Given the description of an element on the screen output the (x, y) to click on. 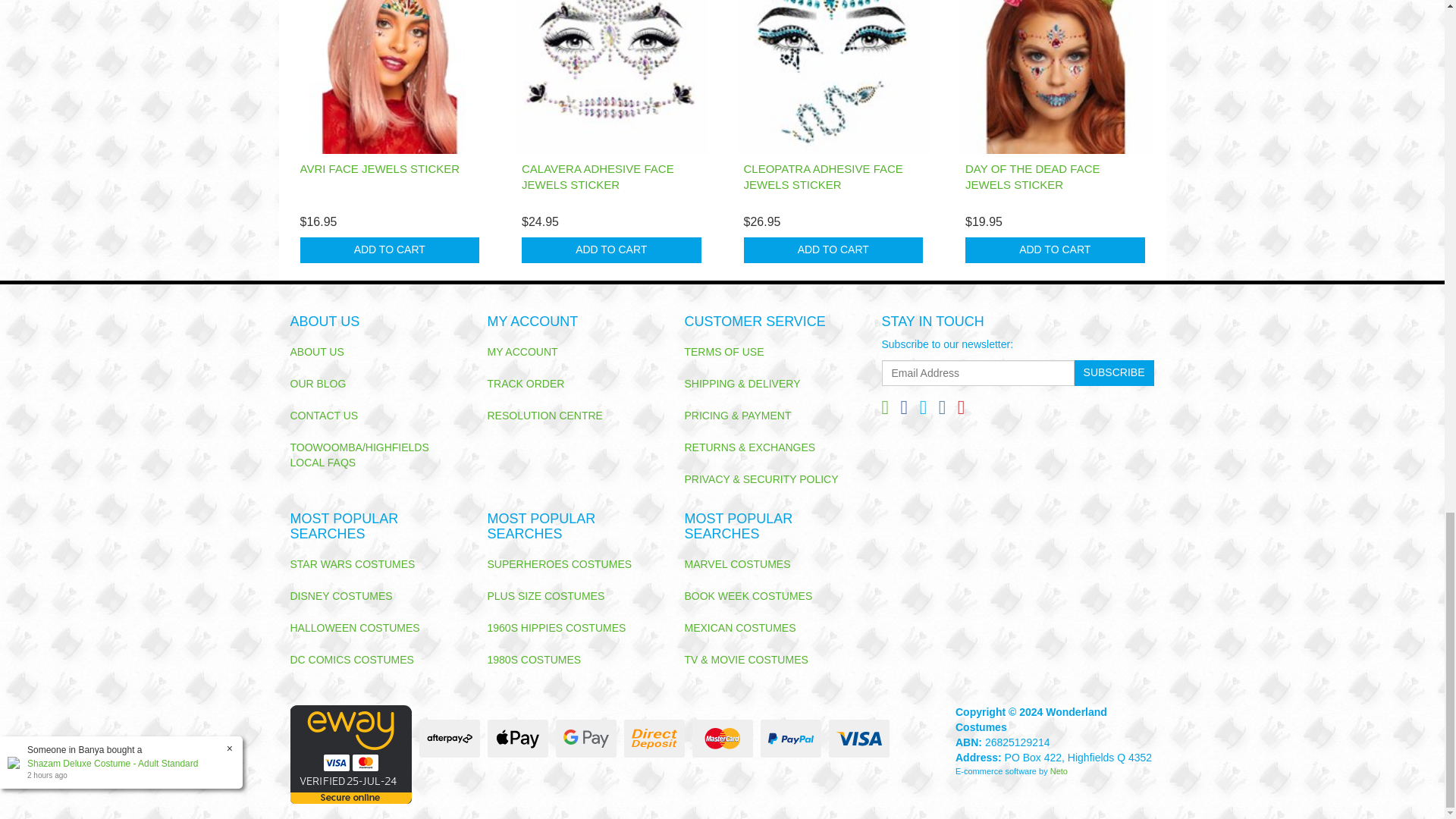
Add to Cart (611, 249)
Day of the Dead Face Jewels Sticker (1032, 176)
Add to Cart (832, 249)
Cleopatra Adhesive Face Jewels Sticker (822, 176)
Subscribe (1114, 372)
Calavera Adhesive Face Jewels Sticker (597, 176)
Add to Cart (389, 249)
Avri Face Jewels Sticker (379, 168)
Add to Cart (1054, 249)
